Given the description of an element on the screen output the (x, y) to click on. 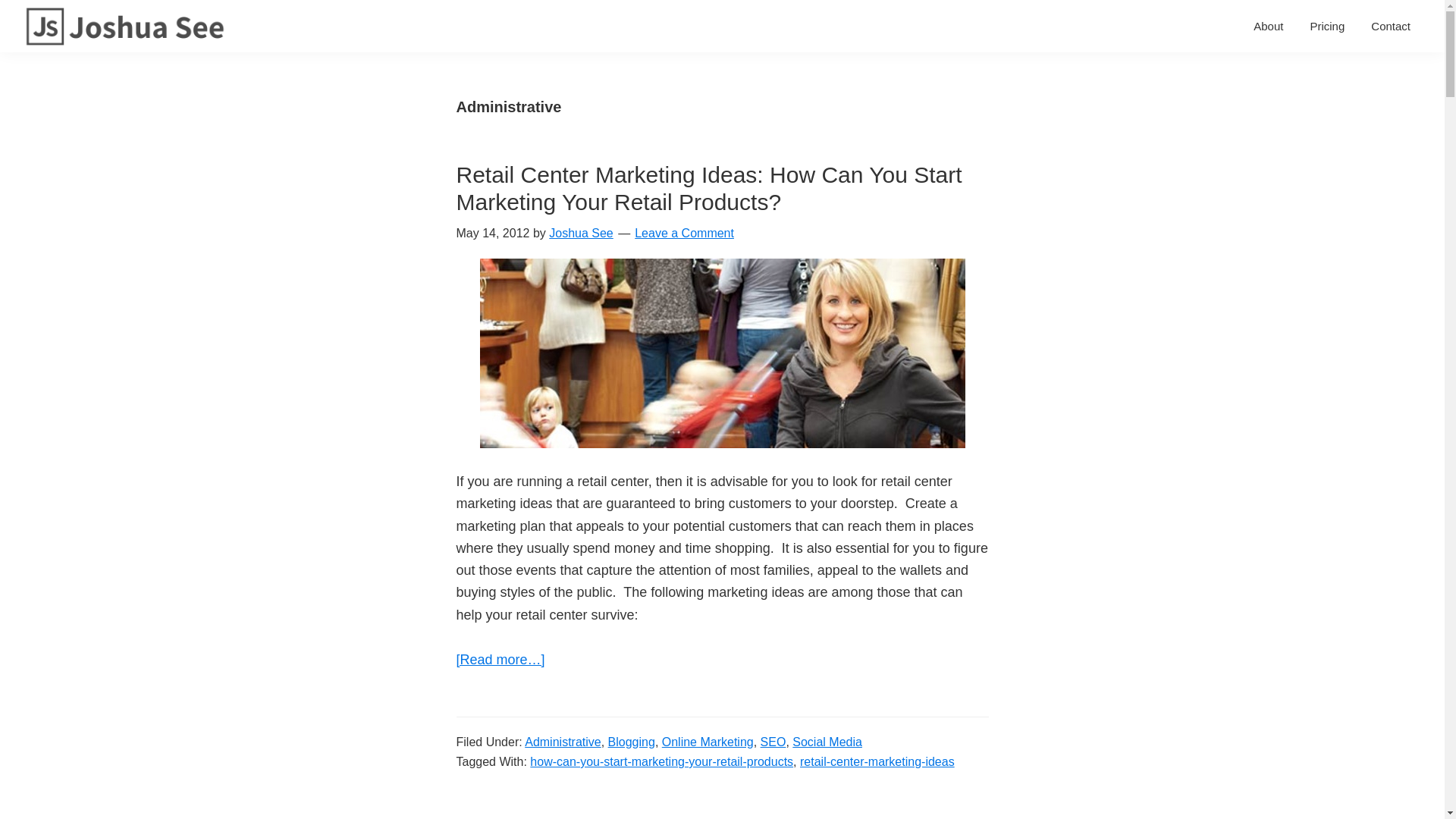
how-can-you-start-marketing-your-retail-products (661, 761)
retail-center-marketing-ideas (877, 761)
Online Marketing (708, 741)
Leave a Comment (683, 232)
Contact (1390, 25)
Blogging (631, 741)
Administrative (561, 741)
